Given the description of an element on the screen output the (x, y) to click on. 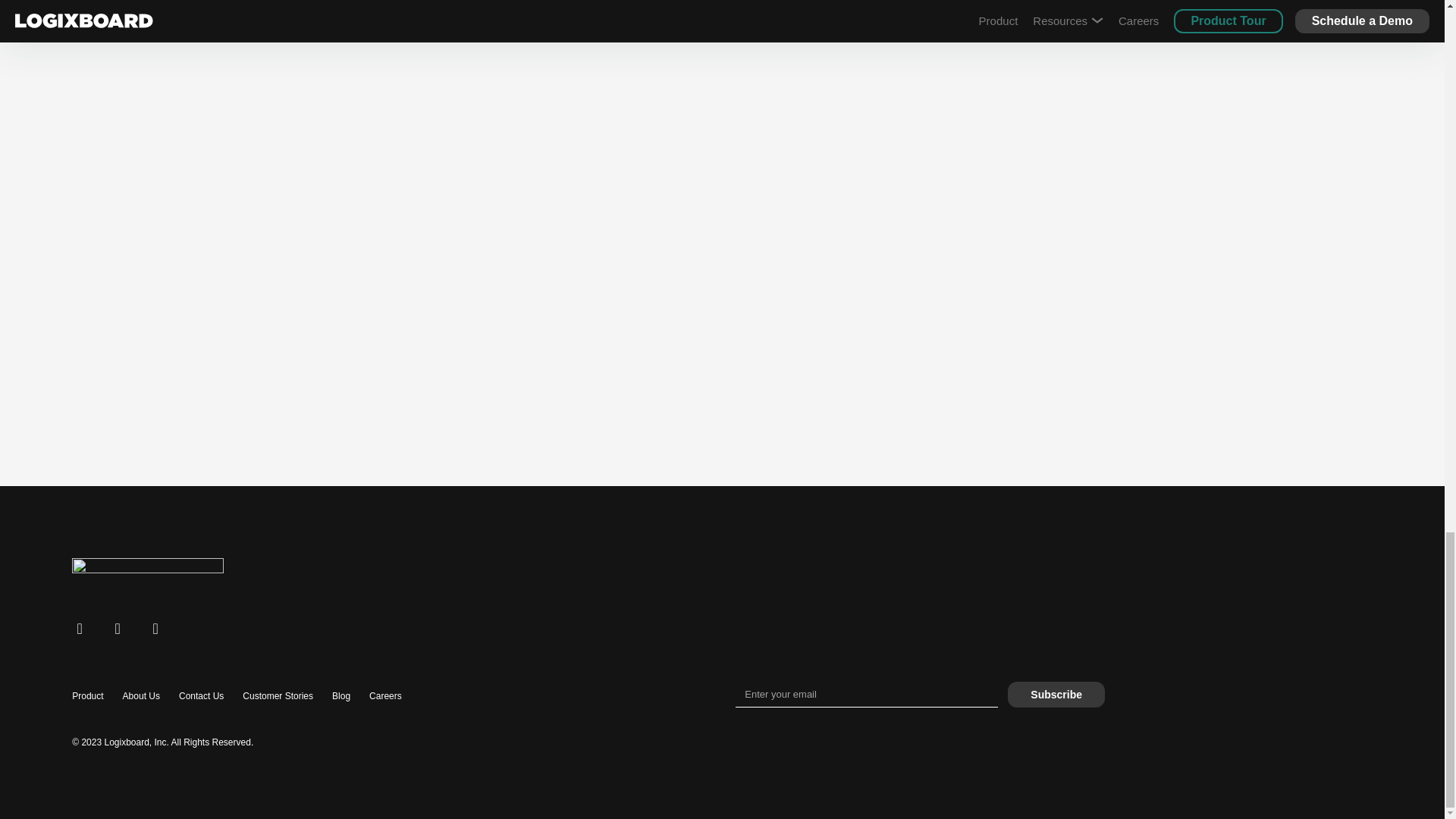
Product (87, 696)
Careers (385, 696)
Contact Us (201, 696)
About Us (141, 696)
Customer Stories (278, 696)
Blog (340, 696)
